Given the description of an element on the screen output the (x, y) to click on. 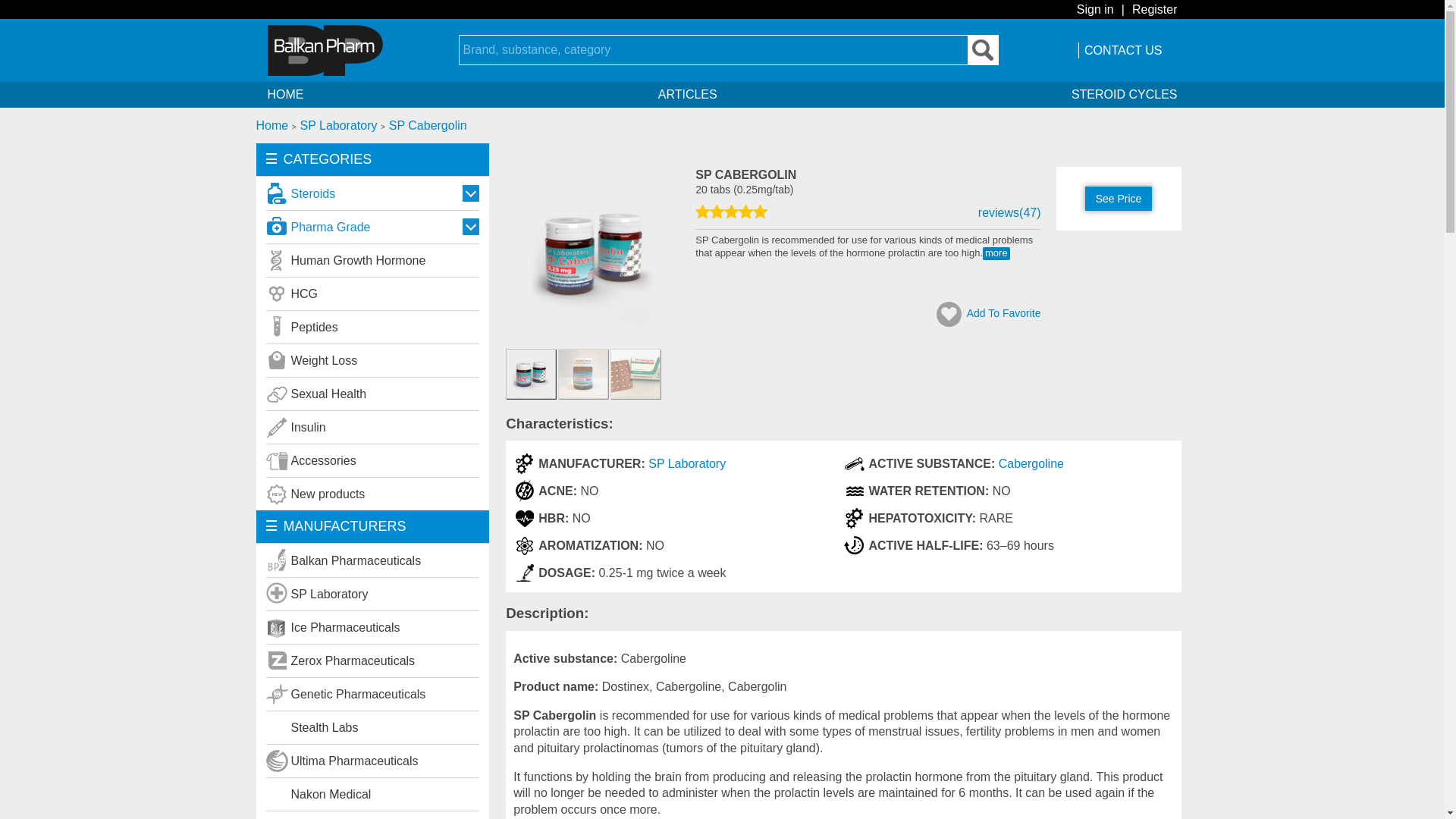
Image 4 (635, 373)
Register (1154, 9)
Image 3 (583, 373)
Image 2 (592, 336)
ARTICLES (687, 94)
Peptides (371, 326)
Home (274, 124)
CONTACT US (1122, 50)
Image 2 (530, 373)
SP Laboratory (339, 124)
Steroids (371, 192)
Sign in (1095, 9)
Weight Loss (371, 359)
Sexual Health (371, 392)
